Given the description of an element on the screen output the (x, y) to click on. 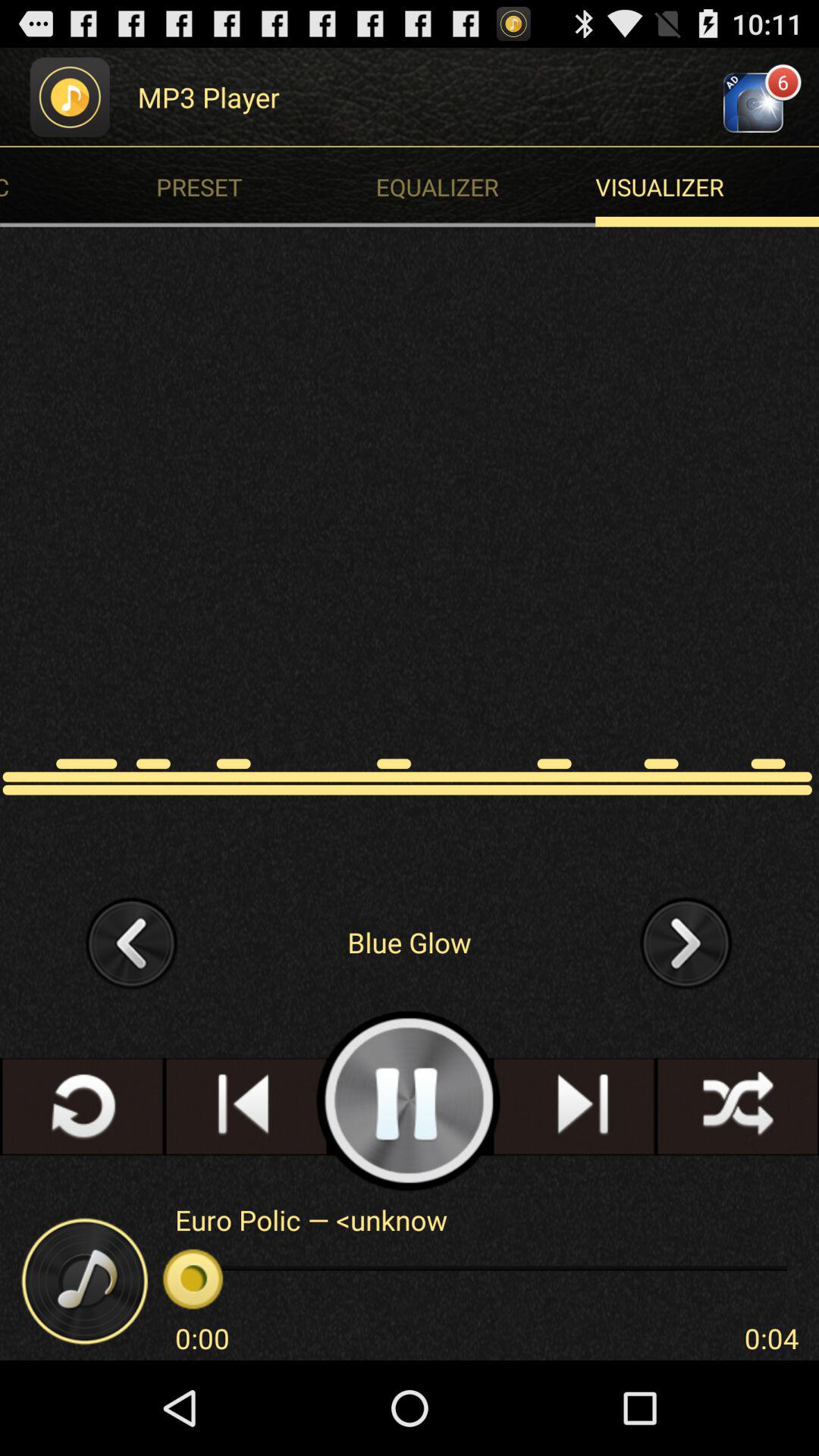
launch the preset radio button (269, 186)
